Given the description of an element on the screen output the (x, y) to click on. 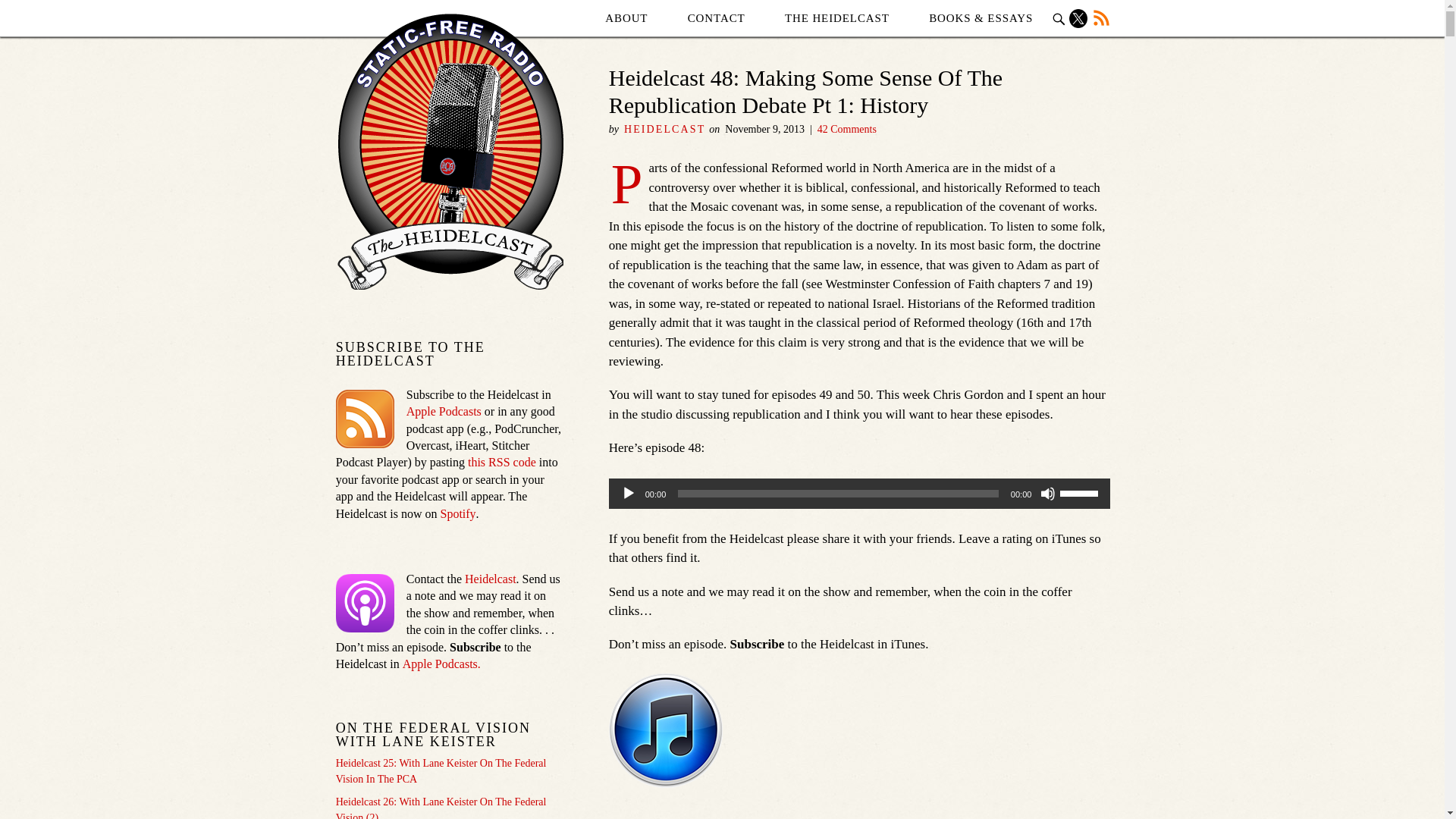
42 Comments (846, 129)
CONTACT (715, 18)
The Heidelblog (449, 150)
Contact (715, 18)
THE HEIDELCAST (837, 18)
HEIDELCAST (664, 129)
Mute (1048, 493)
ABOUT (625, 18)
Apple Podcasts (365, 603)
About (625, 18)
RSS (365, 418)
Heidelcast on iTunes (665, 730)
The Heidelcast (837, 18)
